Given the description of an element on the screen output the (x, y) to click on. 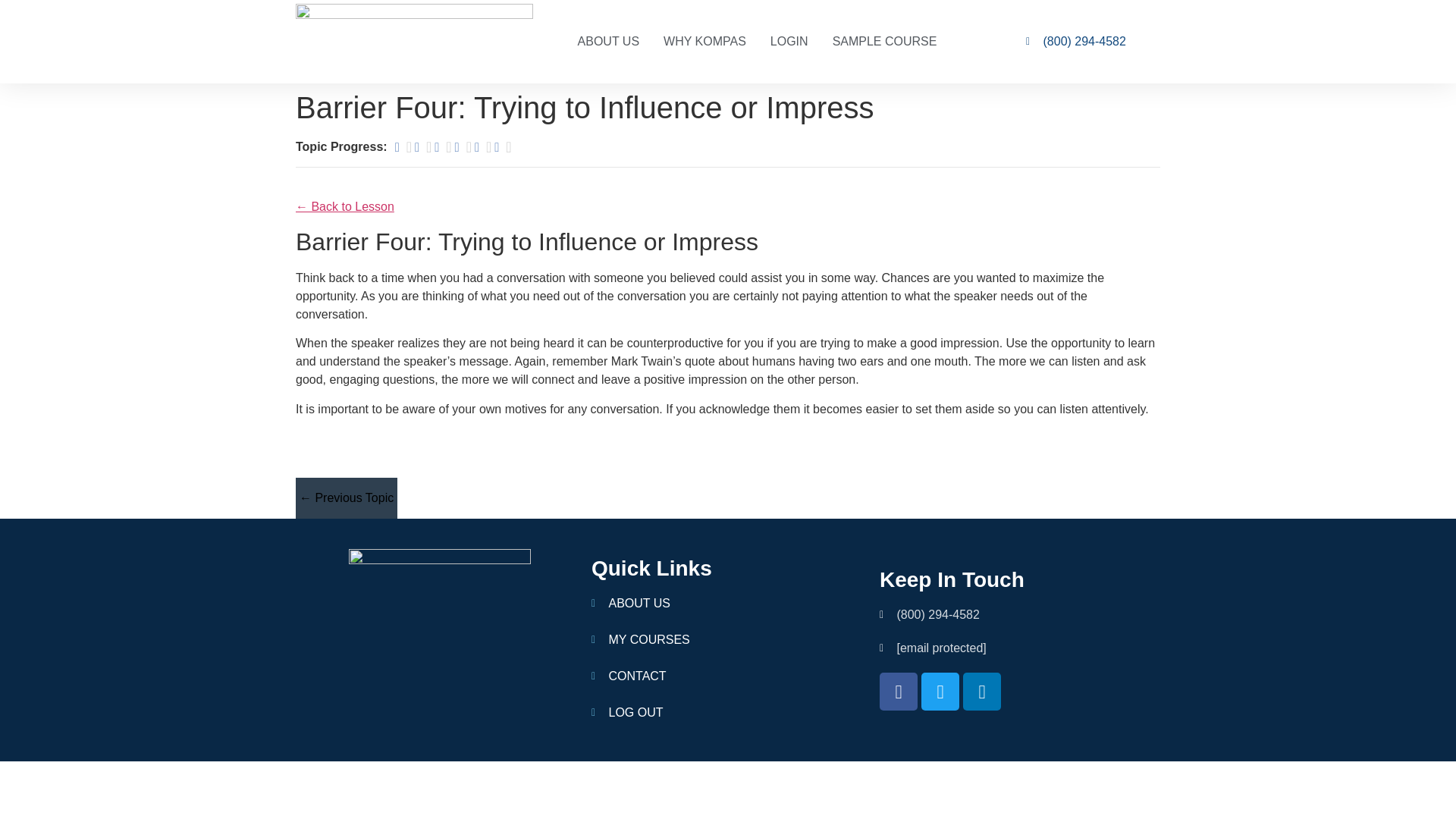
WHY KOMPAS (704, 41)
LOG OUT (727, 712)
ABOUT US (727, 603)
Barrier Six: Listening for the Forest and the Trees (503, 147)
Barrier Four: Trying to Influence or Impress (464, 147)
CONTACT (727, 676)
Barrier Three: Trying to be Helpful (443, 147)
LOGIN (789, 41)
